Given the description of an element on the screen output the (x, y) to click on. 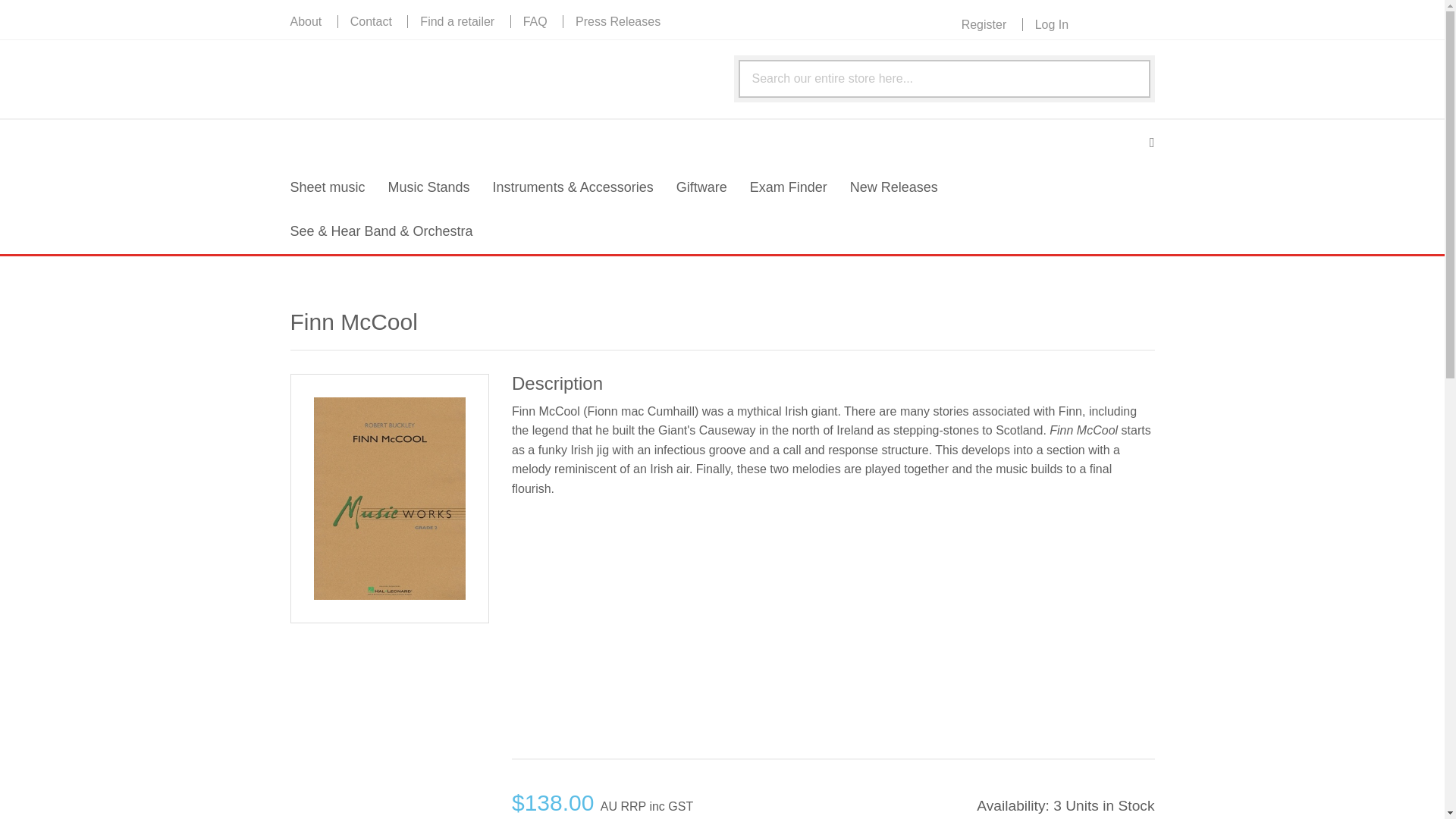
See & Hear Band & Orchestra Element type: text (381, 231)
Twitter Element type: text (1118, 22)
Contact Element type: text (370, 21)
Log In Element type: text (1051, 24)
Giftware Element type: text (701, 187)
Exam Finder Element type: text (788, 187)
Music Stands Element type: text (428, 187)
Find a retailer Element type: text (456, 21)
Register Element type: text (990, 24)
Press Releases Element type: text (617, 21)
Instruments & Accessories Element type: text (573, 187)
YouTube Element type: text (1143, 22)
New Releases Element type: text (893, 187)
FAQ Element type: text (534, 21)
Search Element type: text (1127, 78)
About Element type: text (311, 21)
Sheet music Element type: text (327, 187)
Instagram Element type: text (1094, 22)
